Given the description of an element on the screen output the (x, y) to click on. 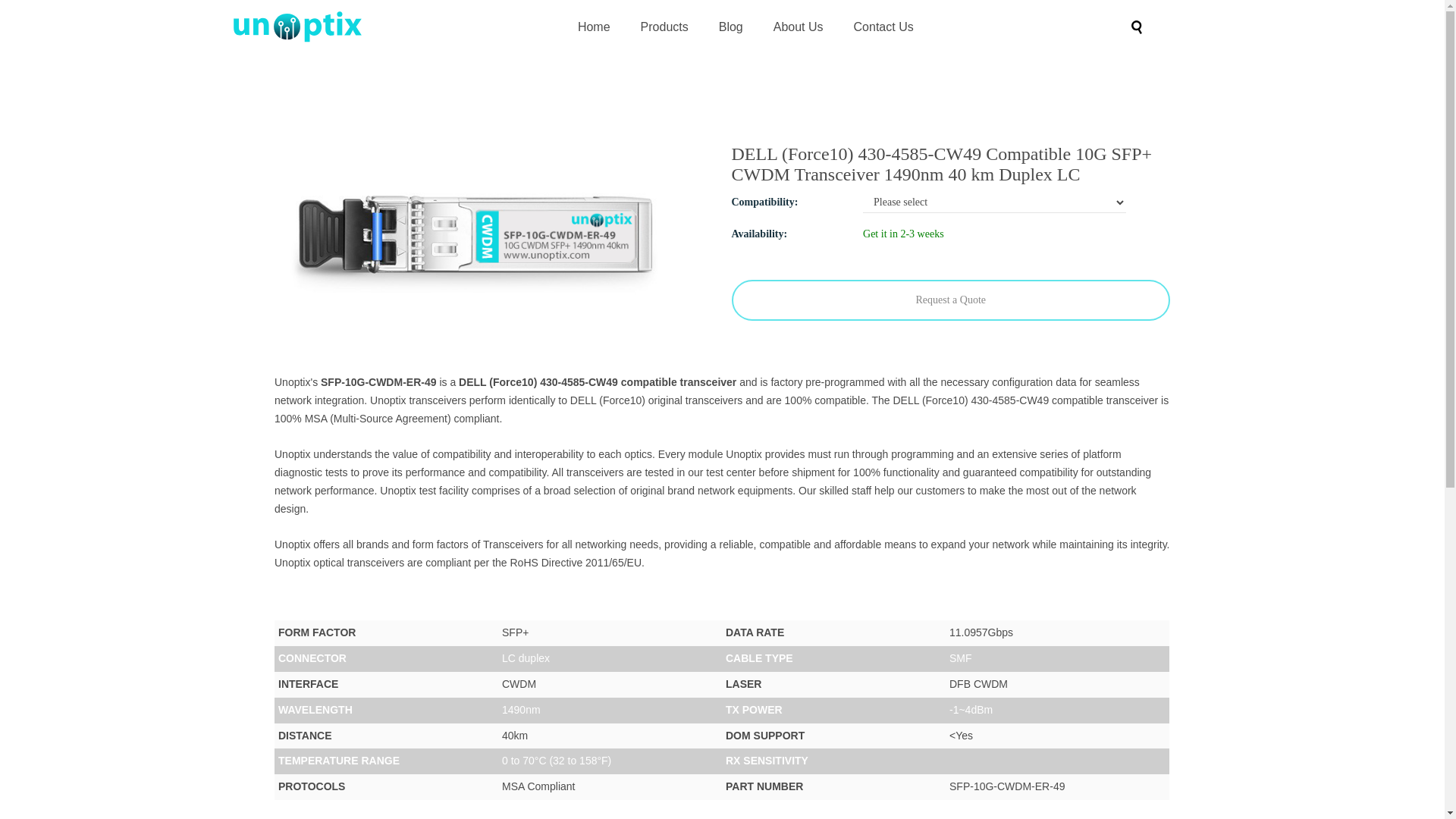
About Us (798, 26)
Products (664, 26)
Blog (730, 26)
Contact Us (883, 26)
Home (594, 26)
Request a Quote (950, 300)
